Given the description of an element on the screen output the (x, y) to click on. 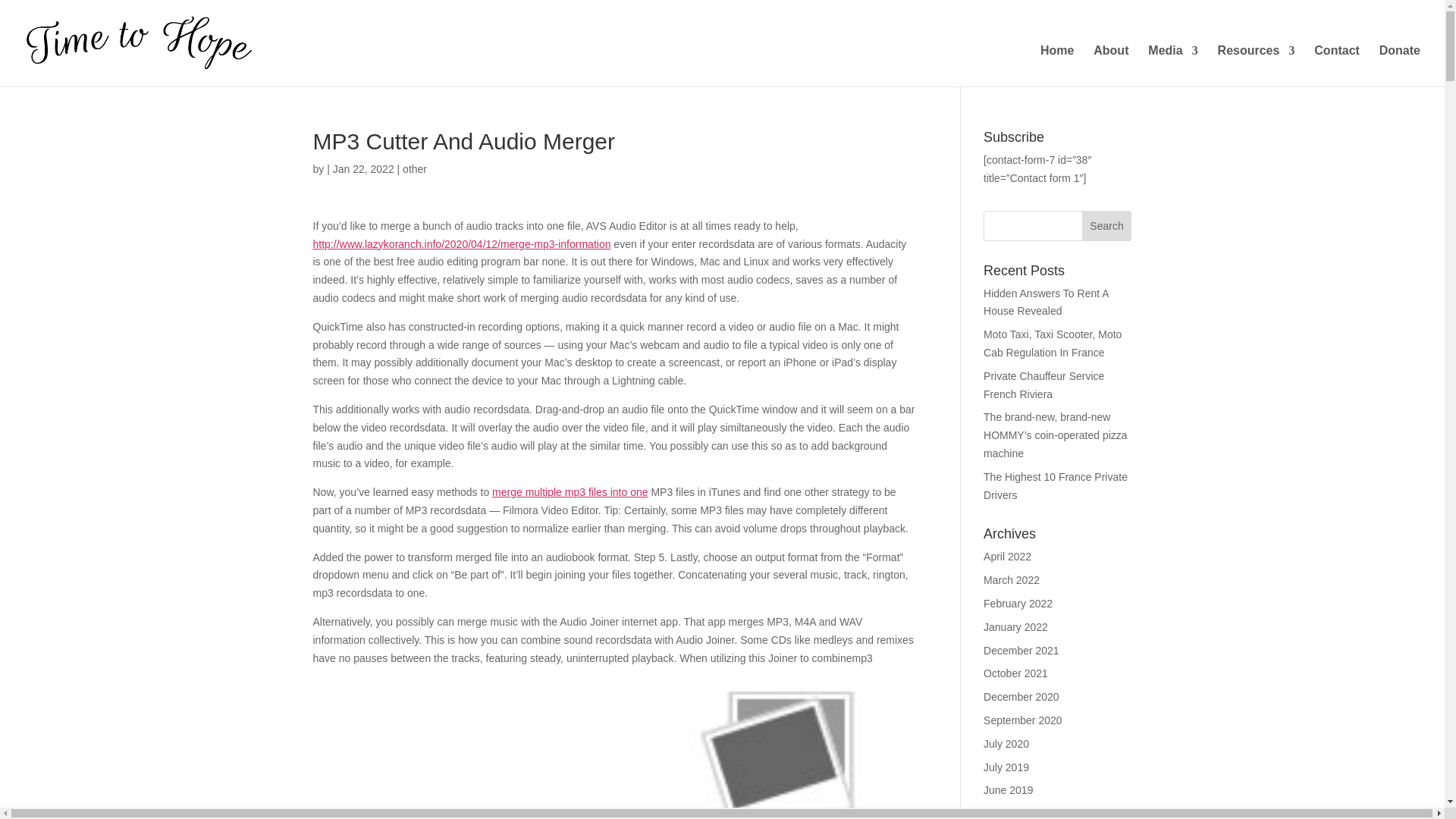
Media (1172, 65)
About (1110, 65)
Donate (1399, 65)
Search (1106, 225)
Moto Taxi, Taxi Scooter, Moto Cab Regulation In France (1052, 343)
other (414, 168)
Search (1106, 225)
Resources (1256, 65)
merge multiple mp3 files into one (569, 491)
Contact (1336, 65)
Hidden Answers To Rent A House Revealed (1046, 302)
Home (1057, 65)
Private Chauffeur Service French Riviera (1043, 385)
